Given the description of an element on the screen output the (x, y) to click on. 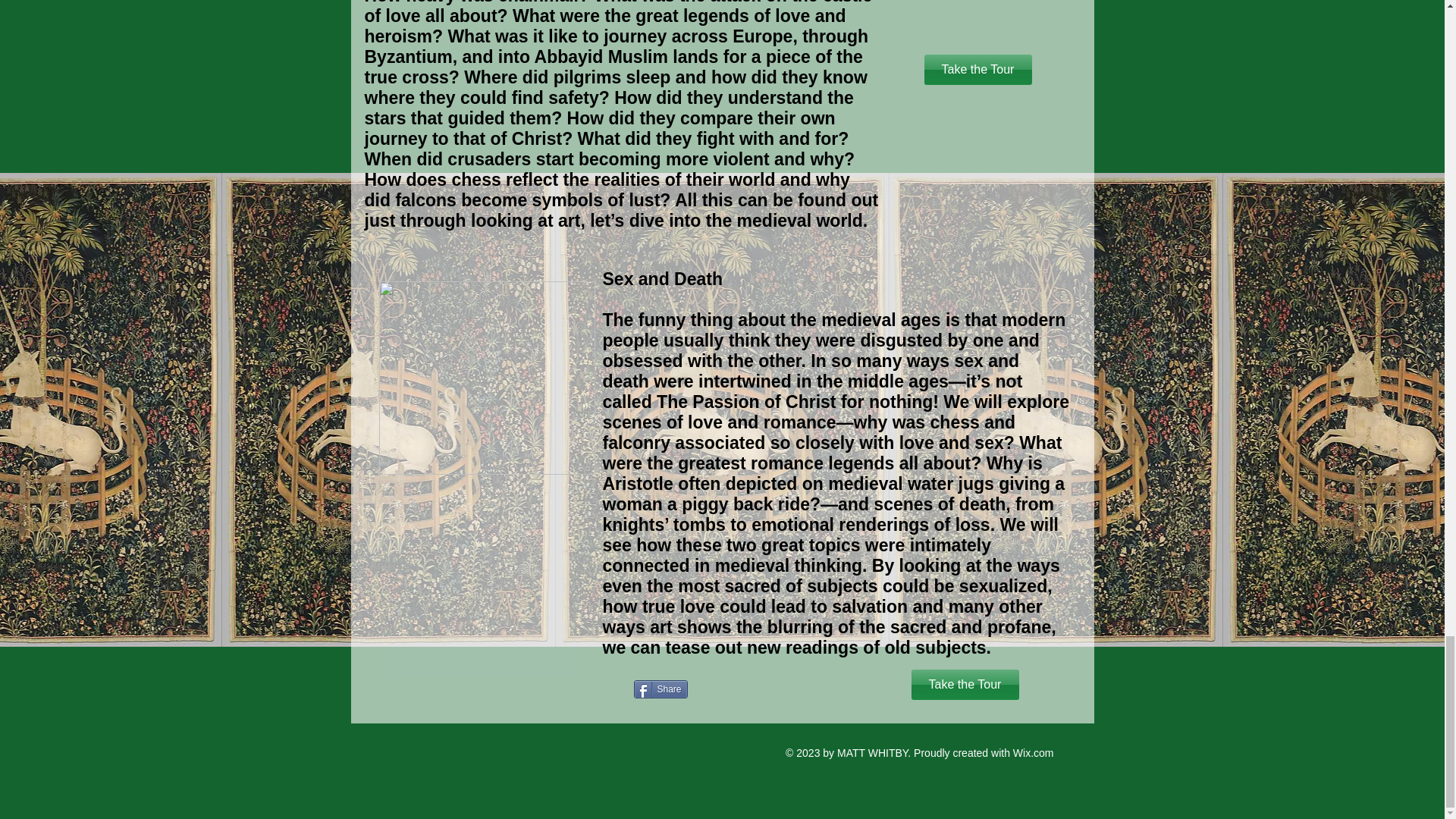
Take the Tour (976, 69)
Wix.com (1033, 752)
Twitter Tweet (662, 715)
Share (660, 689)
Share (660, 689)
Take the Tour (965, 684)
